Given the description of an element on the screen output the (x, y) to click on. 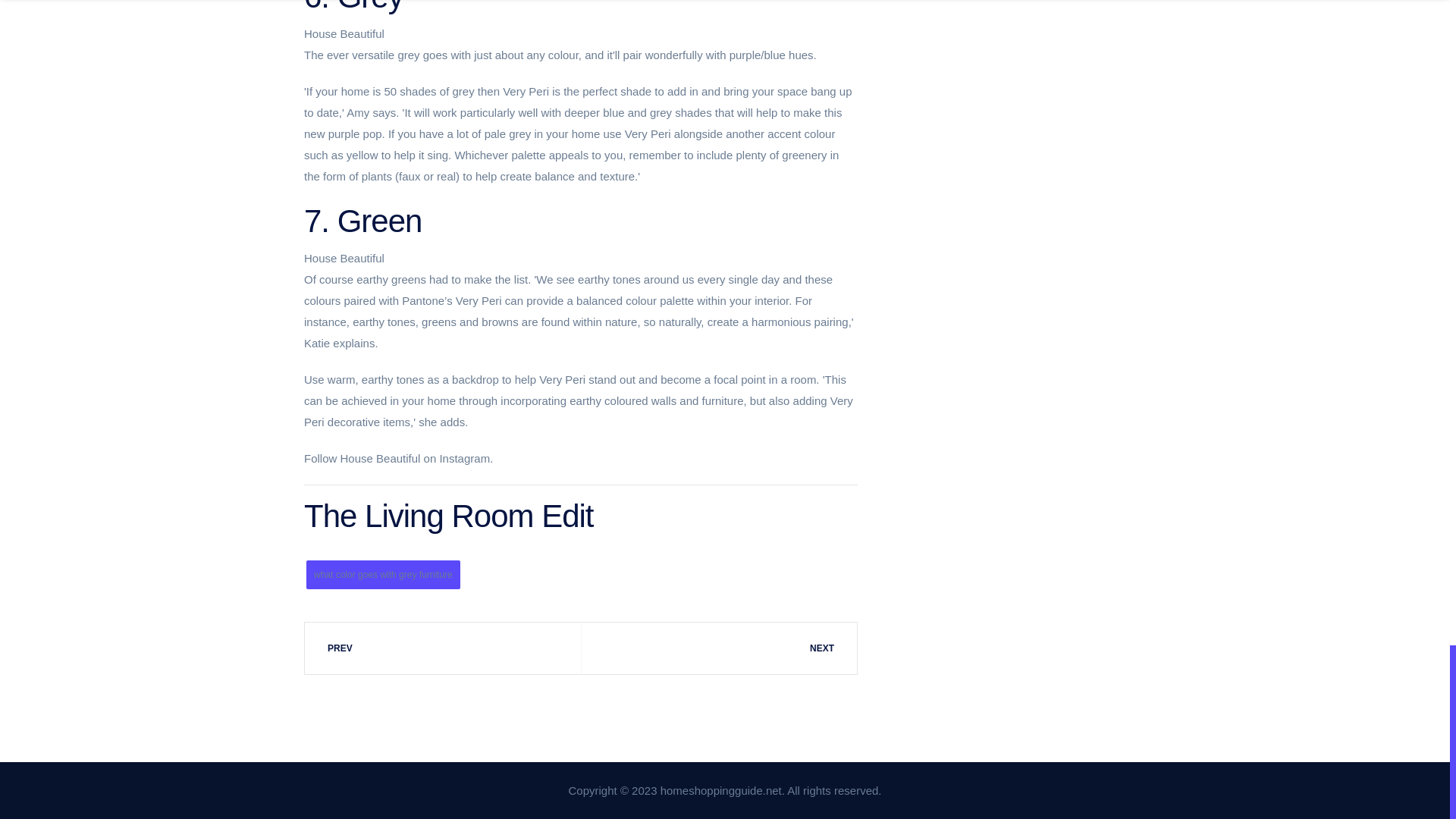
PREV (443, 648)
what color goes with grey furniture (382, 574)
NEXT (718, 648)
